Given the description of an element on the screen output the (x, y) to click on. 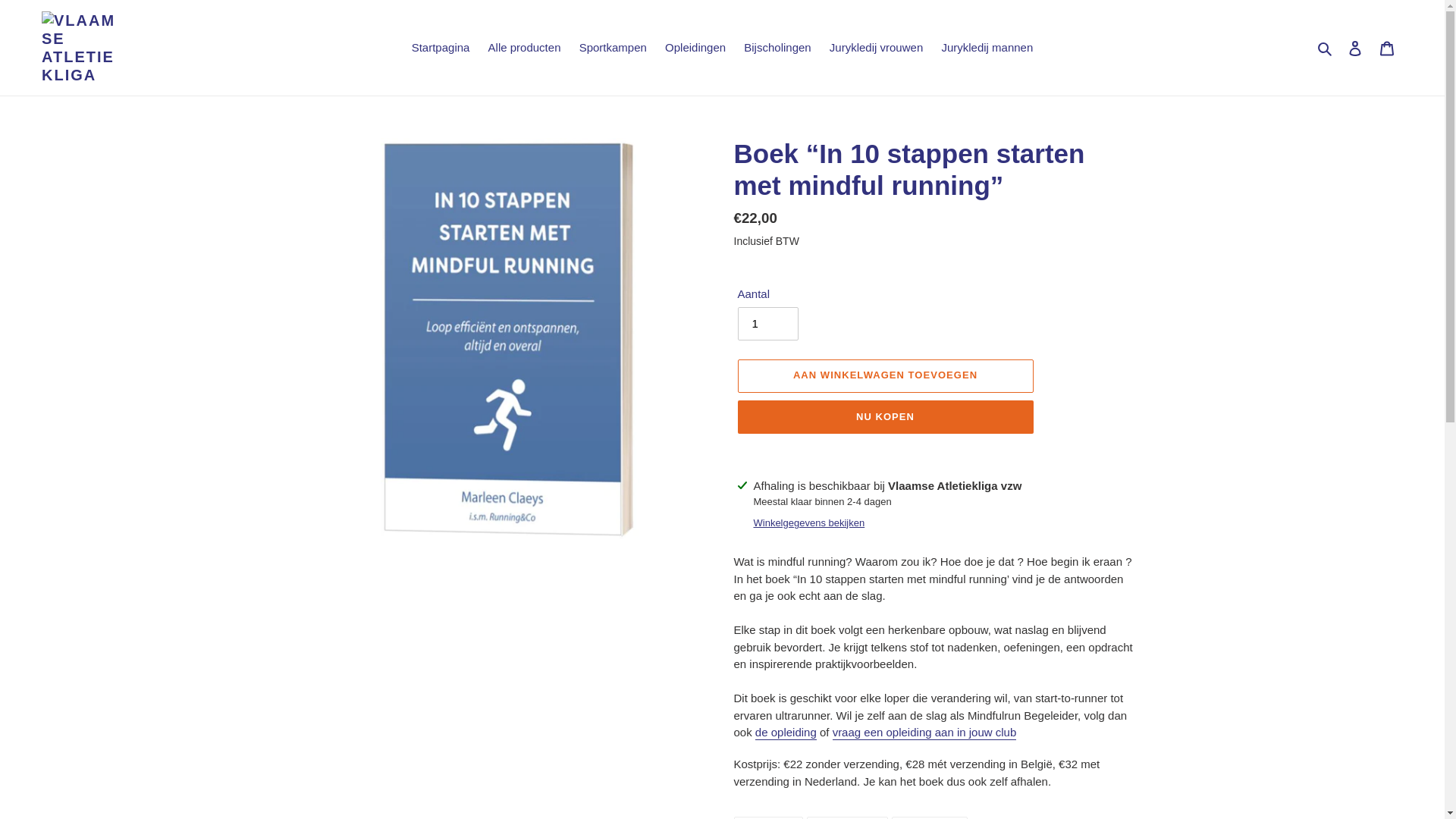
Jurykledij mannen Element type: text (986, 48)
Winkelwagen Element type: text (1386, 47)
Zoeken Element type: text (1325, 47)
Winkelgegevens bekijken Element type: text (809, 522)
Startpagina Element type: text (440, 48)
Aanmelden Element type: text (1355, 47)
vraag een opleiding aan in jouw club Element type: text (924, 732)
Opleidingen Element type: text (695, 48)
de opleiding Element type: text (785, 732)
Alle producten Element type: text (524, 48)
AAN WINKELWAGEN TOEVOEGEN Element type: text (884, 375)
Sportkampen Element type: text (612, 48)
Jurykledij vrouwen Element type: text (876, 48)
Bijscholingen Element type: text (777, 48)
NU KOPEN Element type: text (884, 416)
